Given the description of an element on the screen output the (x, y) to click on. 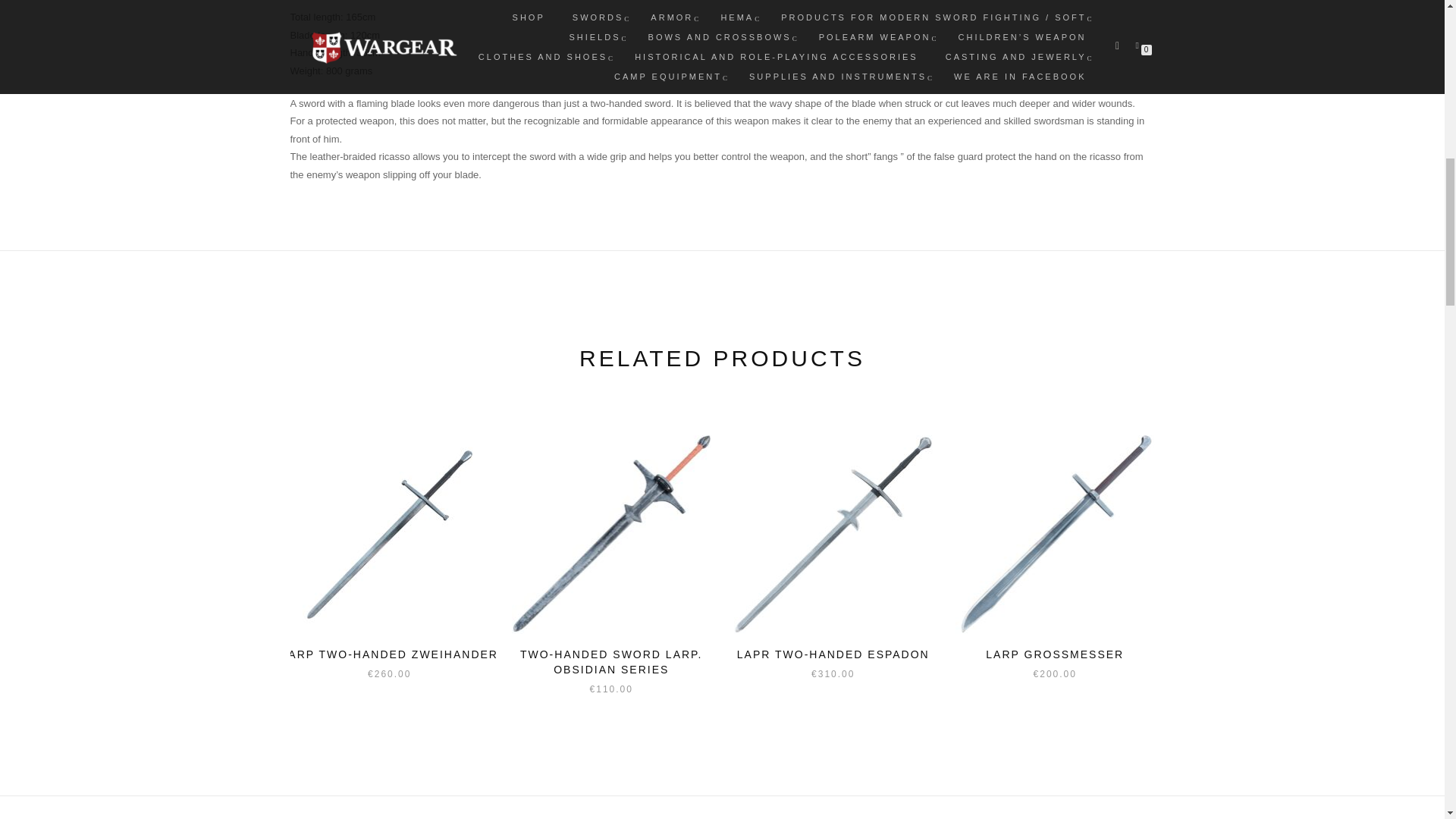
-q1vK08Mcc4 (389, 534)
jespadon-lapr-dvuruchnyj (832, 534)
20210503183846-1-jpg (611, 534)
